Given the description of an element on the screen output the (x, y) to click on. 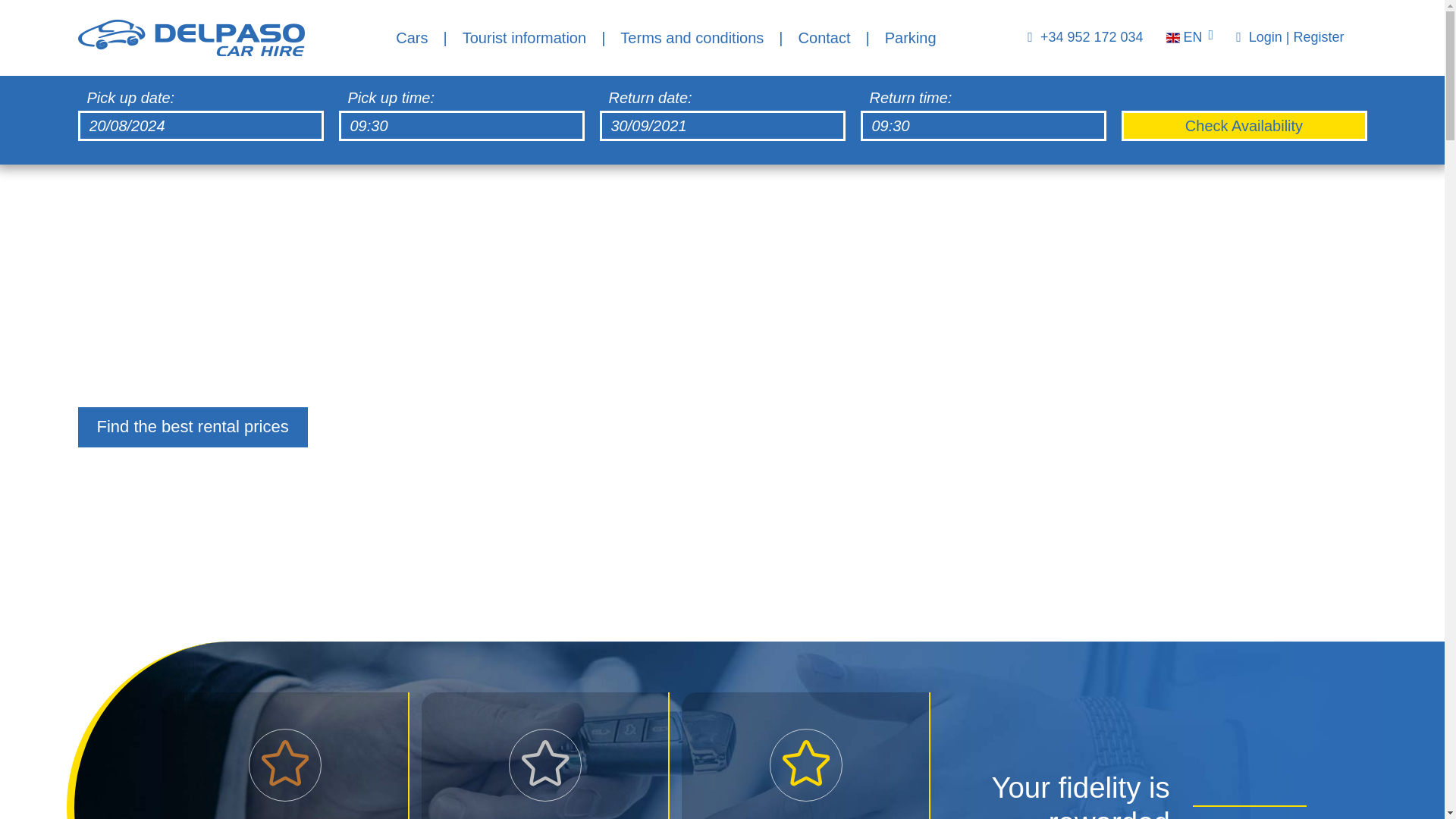
Find the best rental prices (192, 427)
Tourist information (524, 37)
09:30 (460, 125)
Check Availability (1244, 125)
Check Availability (1244, 125)
09:30 (982, 125)
